Given the description of an element on the screen output the (x, y) to click on. 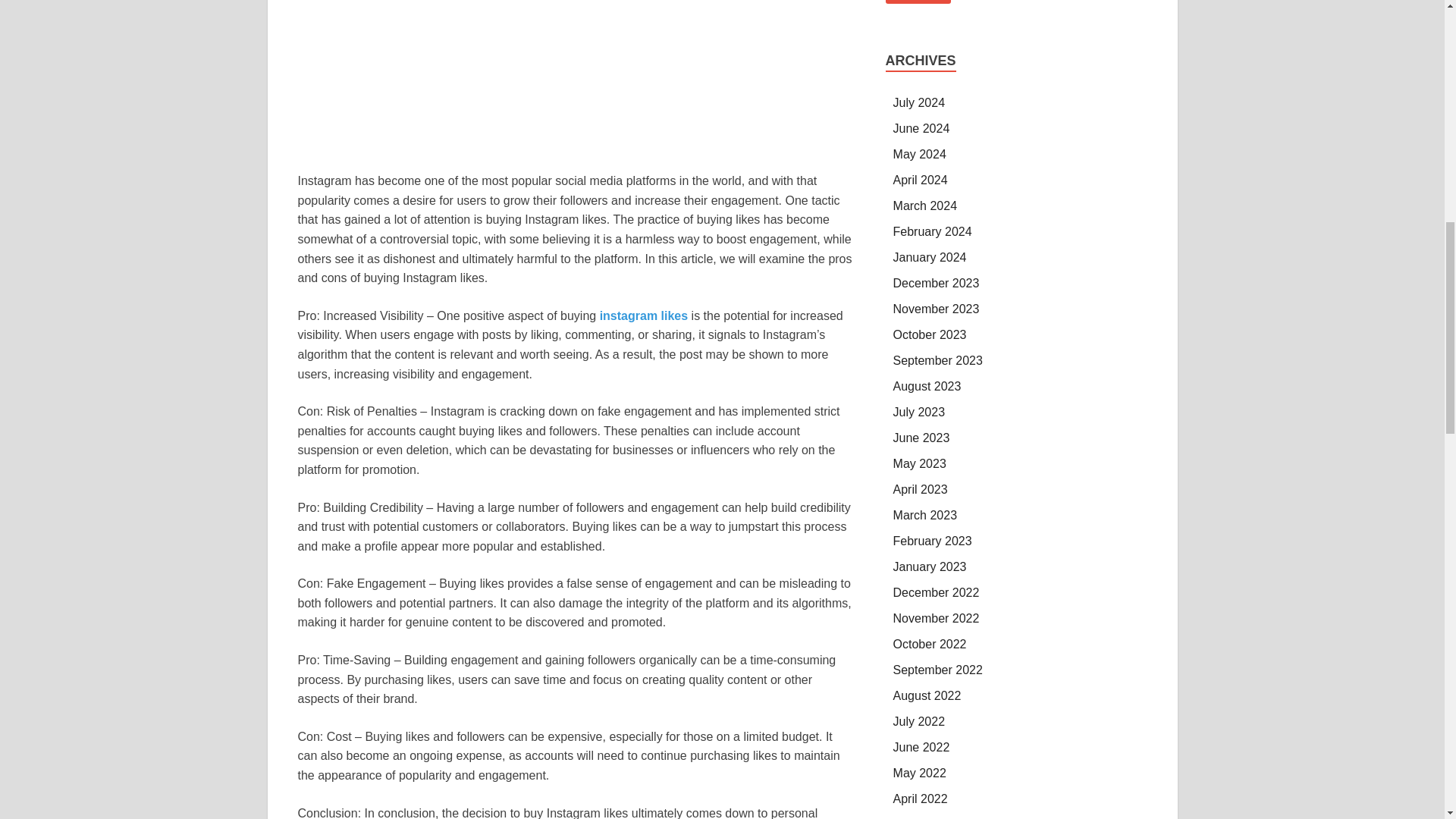
November 2023 (936, 308)
January 2024 (929, 256)
December 2023 (936, 282)
instagram likes (643, 315)
Submit (917, 2)
May 2024 (919, 154)
Submit (917, 2)
October 2023 (929, 334)
March 2024 (925, 205)
July 2024 (918, 102)
June 2024 (921, 128)
February 2024 (932, 231)
April 2024 (920, 179)
